Given the description of an element on the screen output the (x, y) to click on. 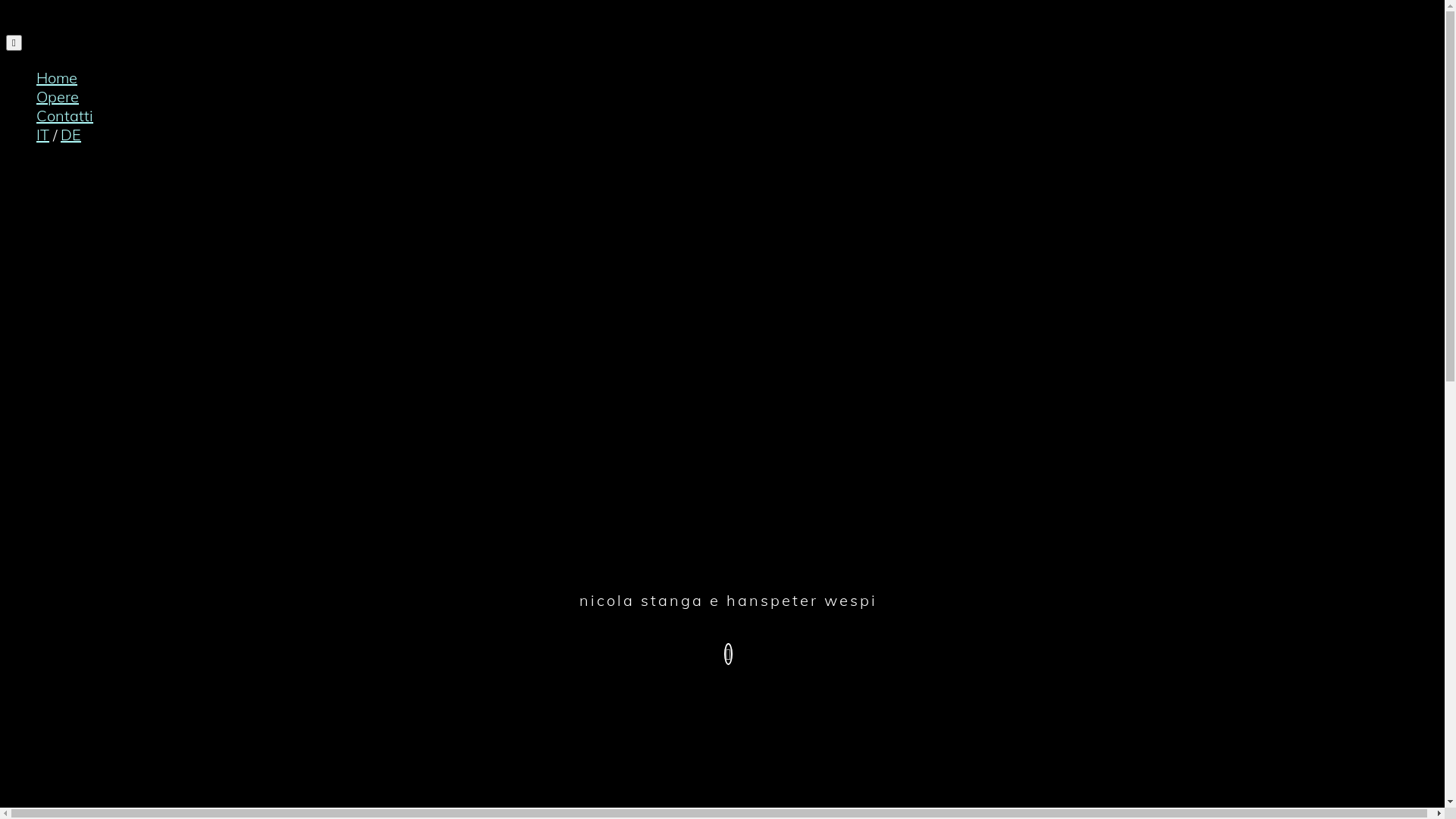
Contatti Element type: text (64, 115)
DE Element type: text (70, 134)
Home Element type: text (56, 77)
IT Element type: text (42, 134)
Opere Element type: text (57, 96)
